Given the description of an element on the screen output the (x, y) to click on. 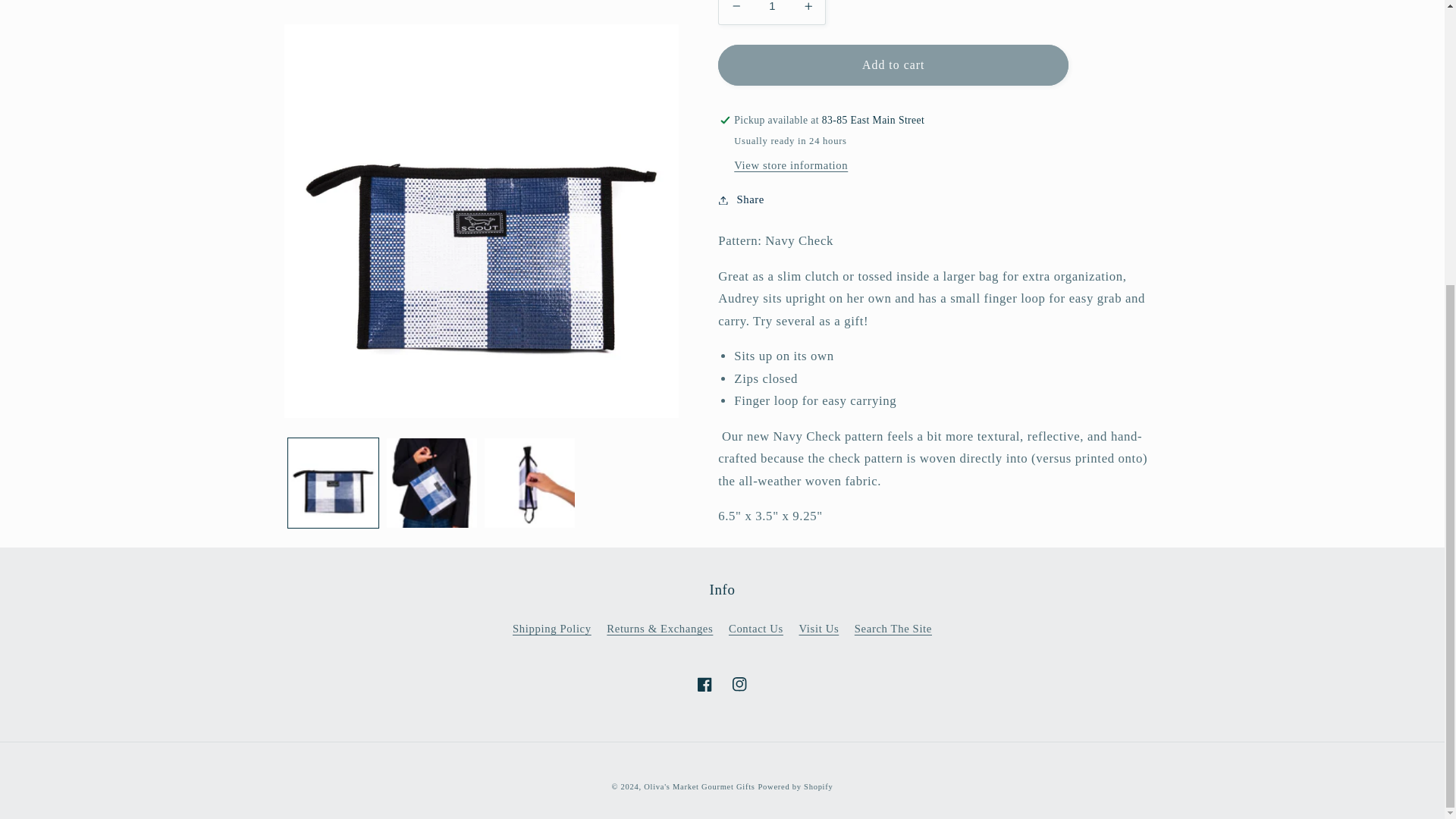
1 (771, 12)
